Given the description of an element on the screen output the (x, y) to click on. 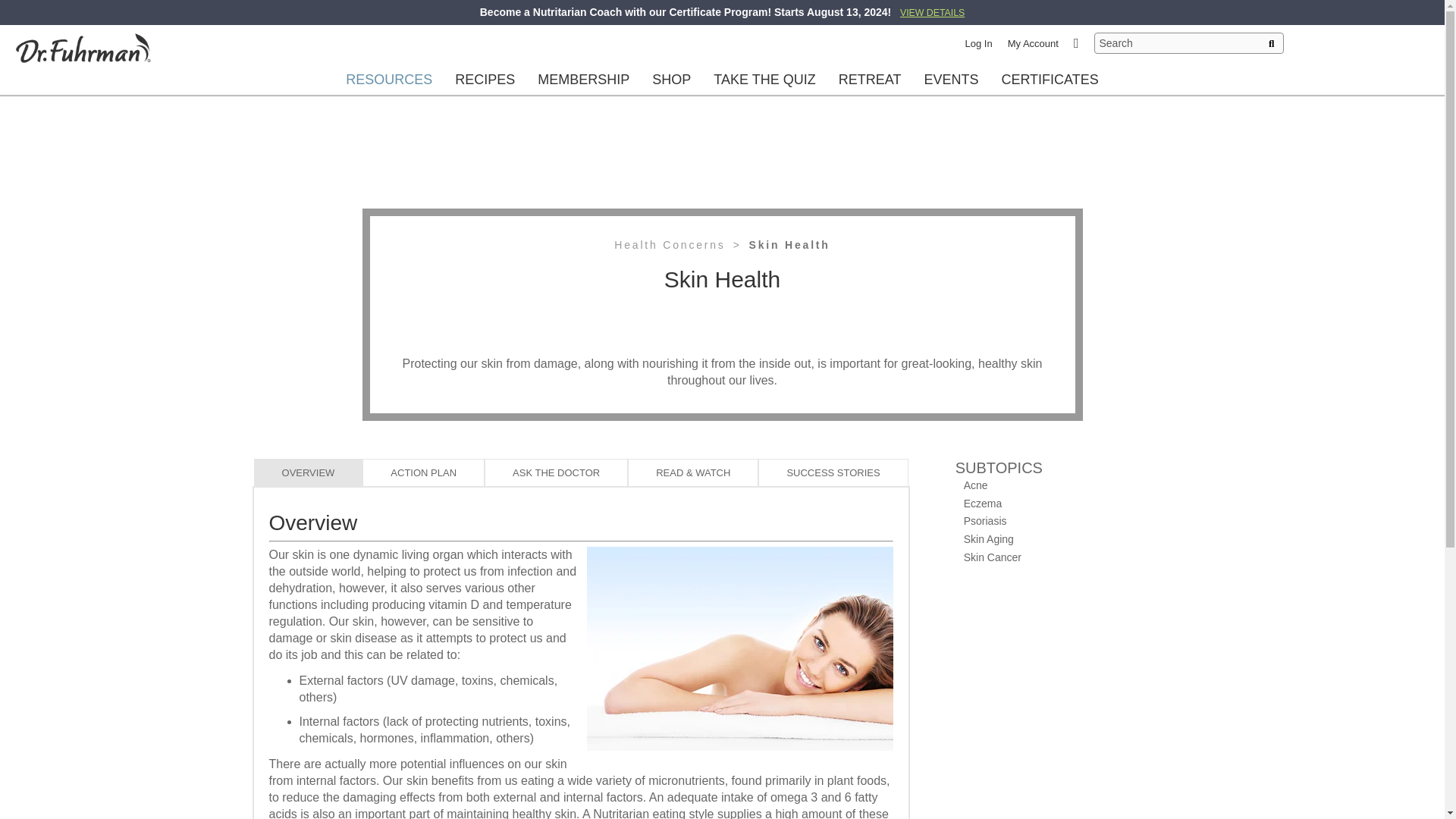
SHOP (670, 79)
Log In (978, 43)
TAKE THE QUIZ (764, 79)
RETREAT (869, 79)
EVENTS (950, 79)
My Account (1032, 43)
MEMBERSHIP (583, 79)
VIEW DETAILS (931, 11)
